Given the description of an element on the screen output the (x, y) to click on. 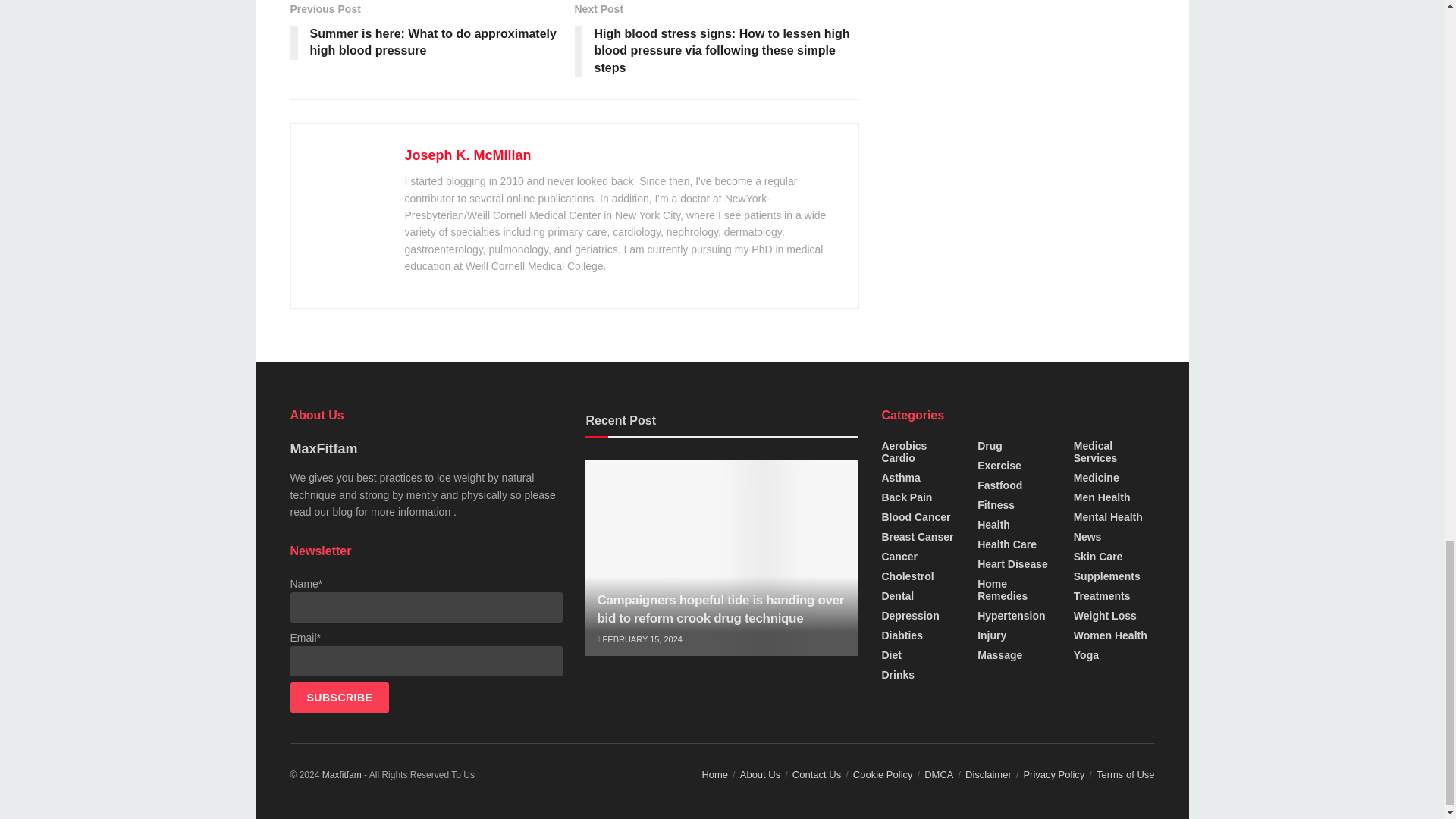
Subscribe (338, 697)
Maxfitfam (341, 774)
